Given the description of an element on the screen output the (x, y) to click on. 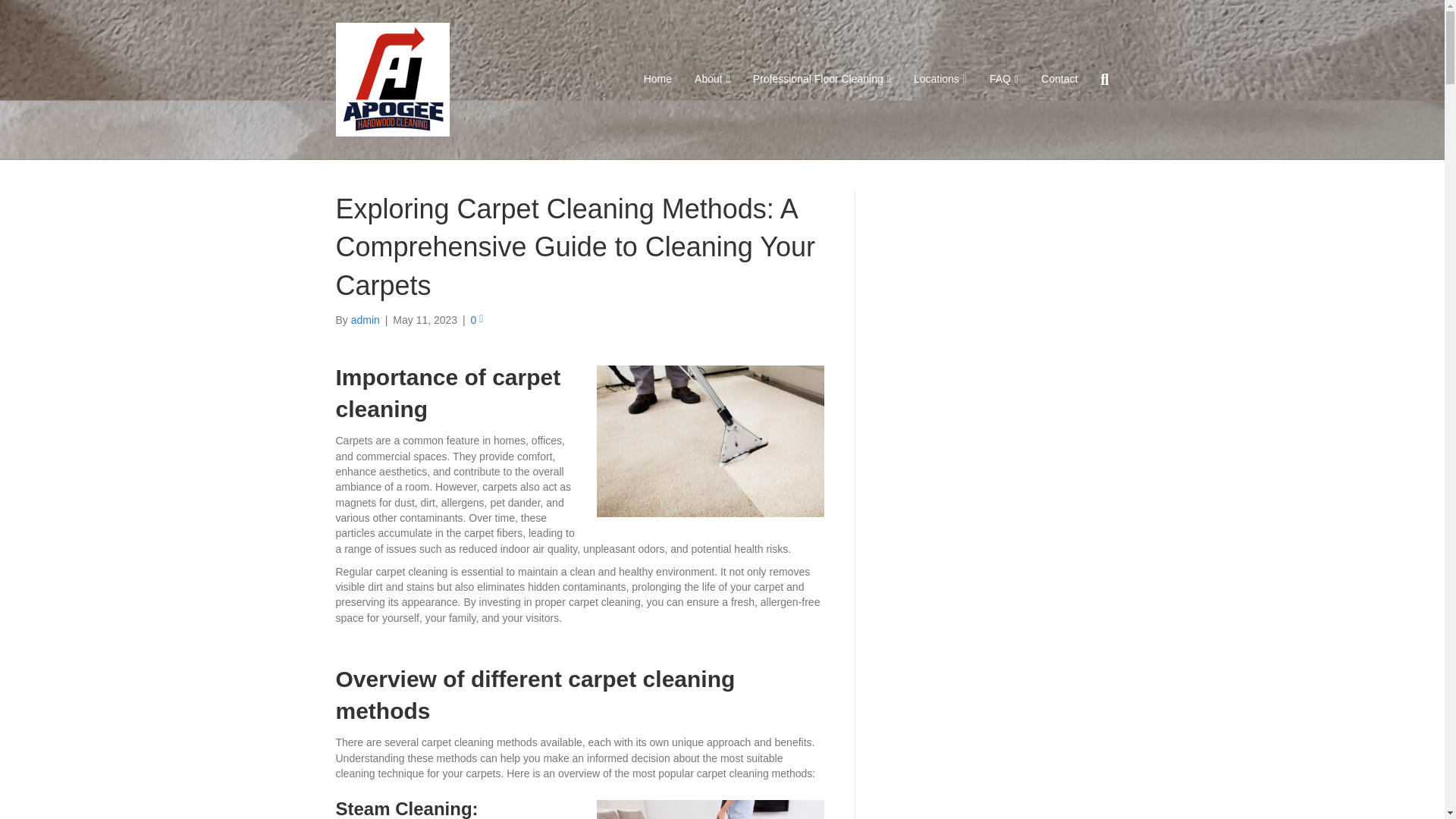
Locations (940, 79)
FAQ (1003, 79)
Contact (1059, 79)
Home (656, 79)
0 (476, 319)
admin (365, 319)
About (711, 79)
Professional Floor Cleaning (821, 79)
